Given the description of an element on the screen output the (x, y) to click on. 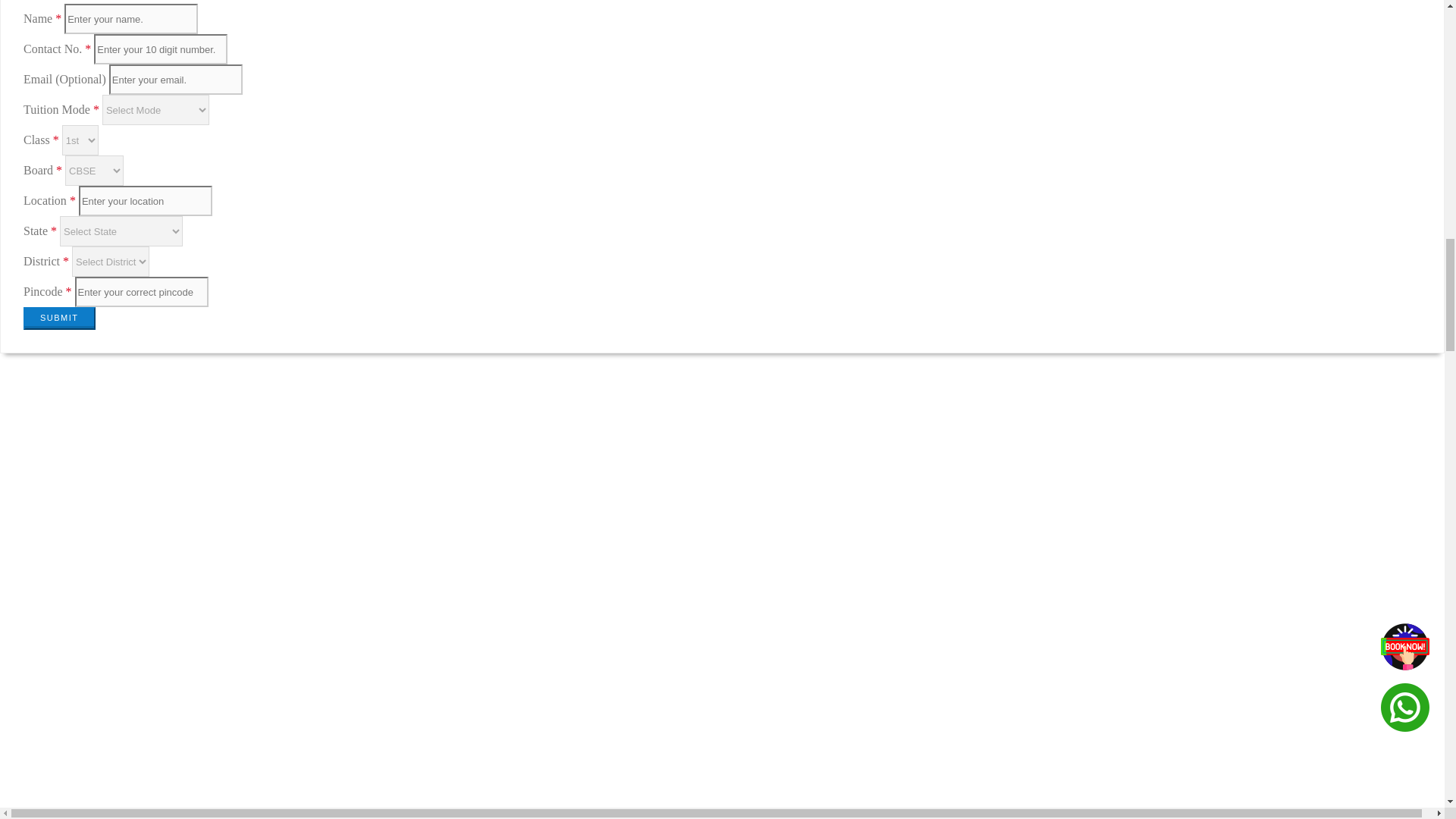
SUBMIT (59, 318)
